Given the description of an element on the screen output the (x, y) to click on. 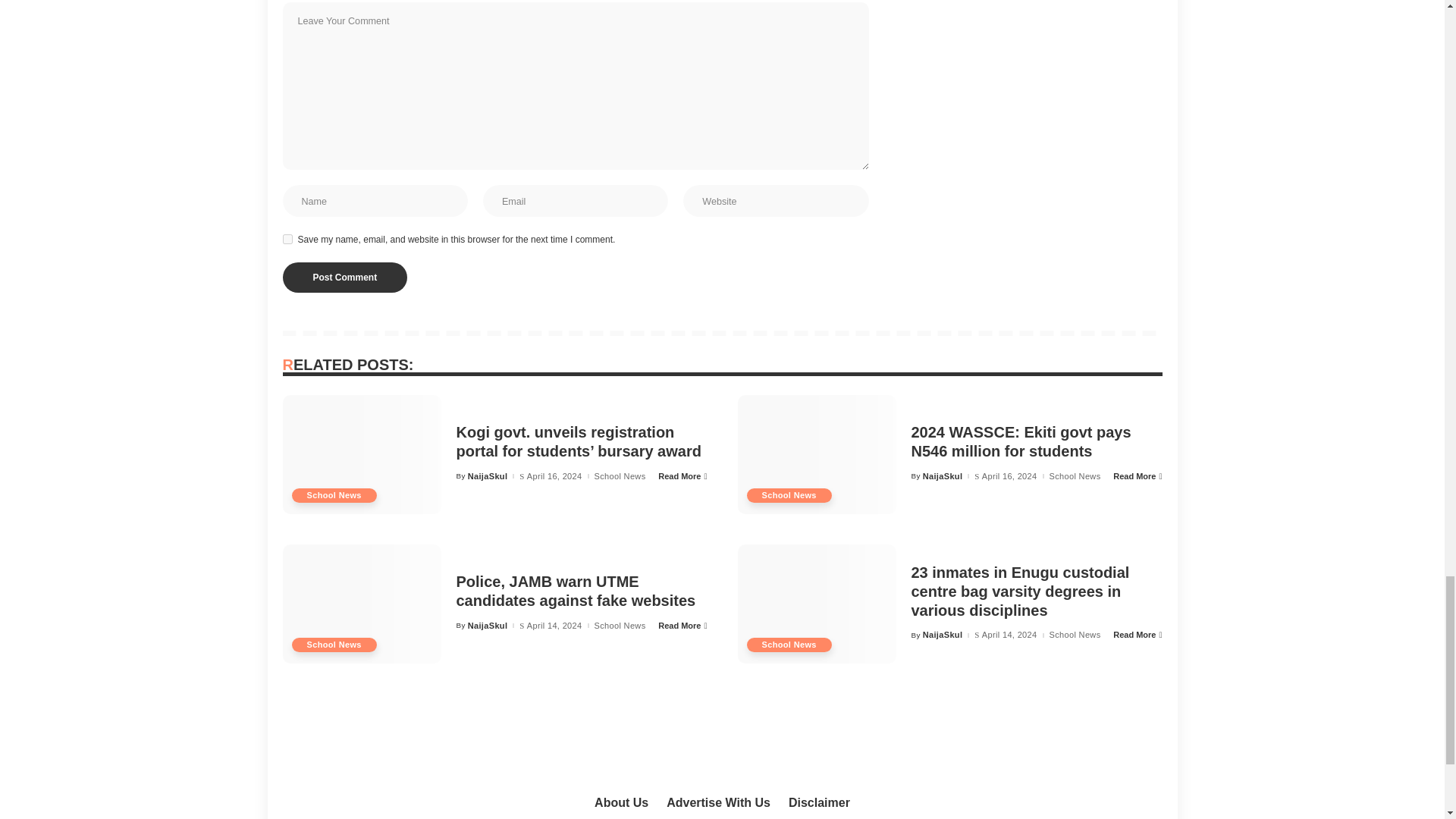
Post Comment (344, 277)
yes (287, 239)
